Given the description of an element on the screen output the (x, y) to click on. 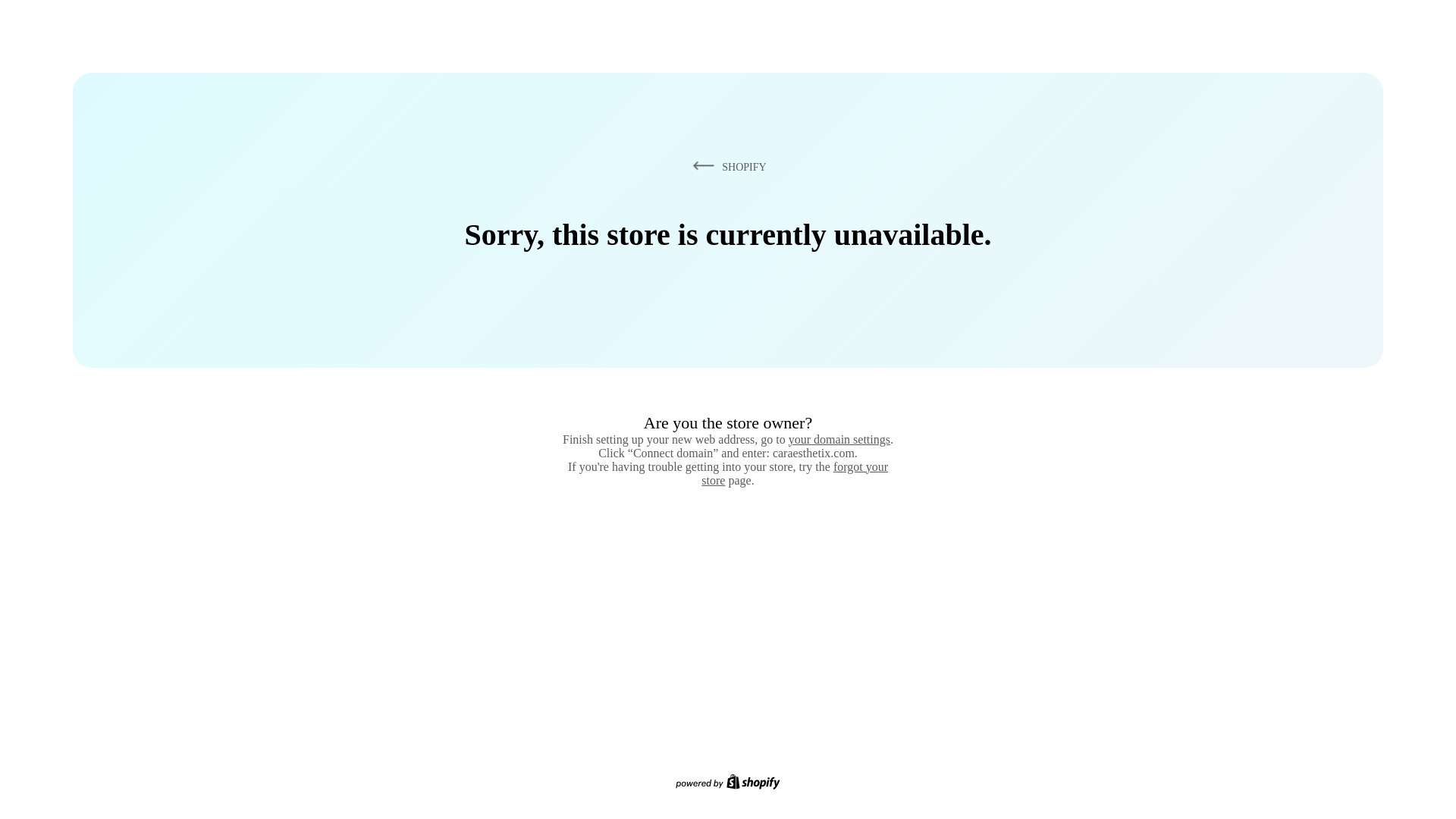
forgot your store (794, 473)
SHOPIFY (726, 166)
your domain settings (839, 439)
